Given the description of an element on the screen output the (x, y) to click on. 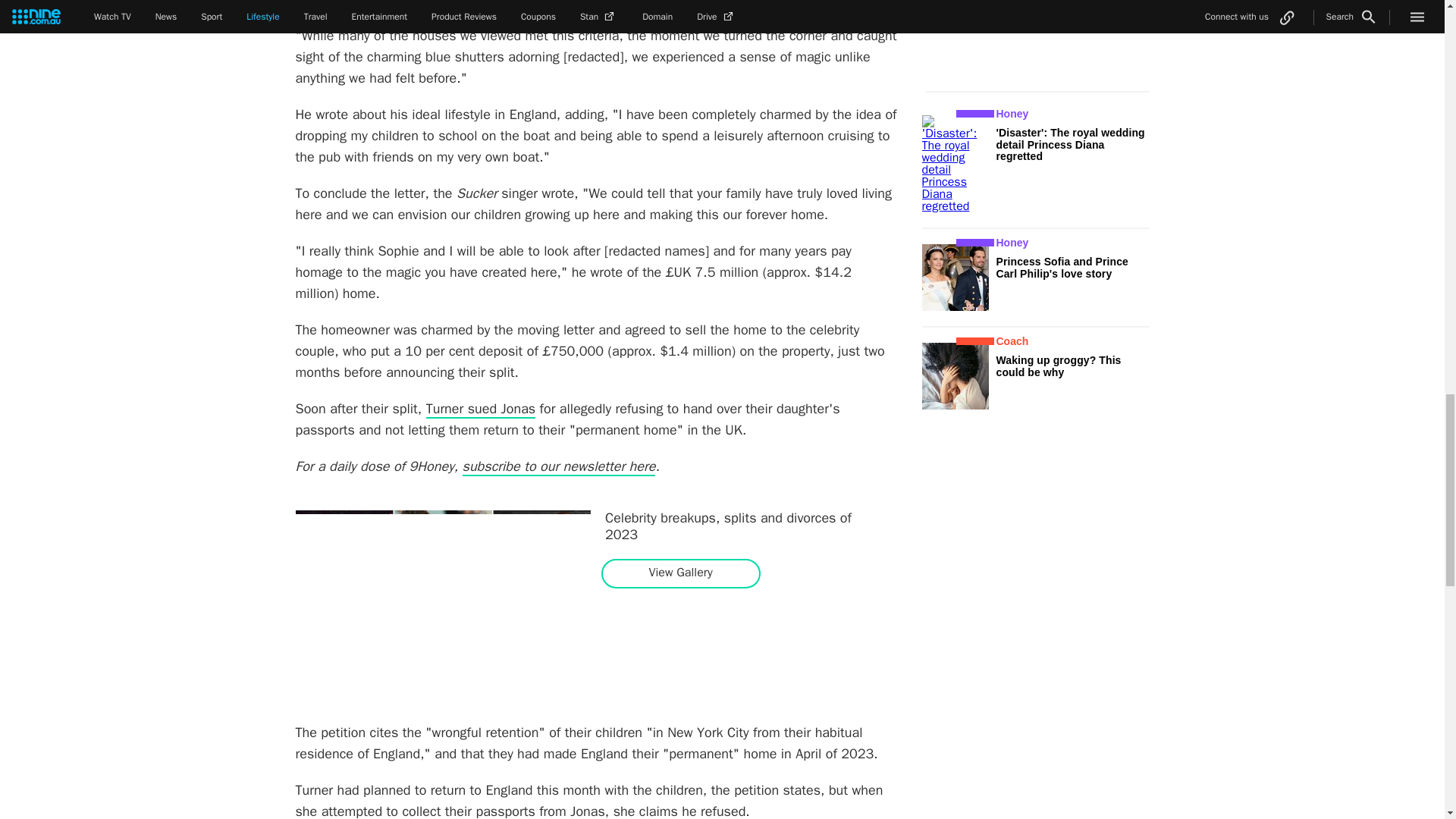
Turner sued Jonas (480, 409)
subscribe to our newsletter here (559, 466)
Turner sued Jonas (480, 409)
